Given the description of an element on the screen output the (x, y) to click on. 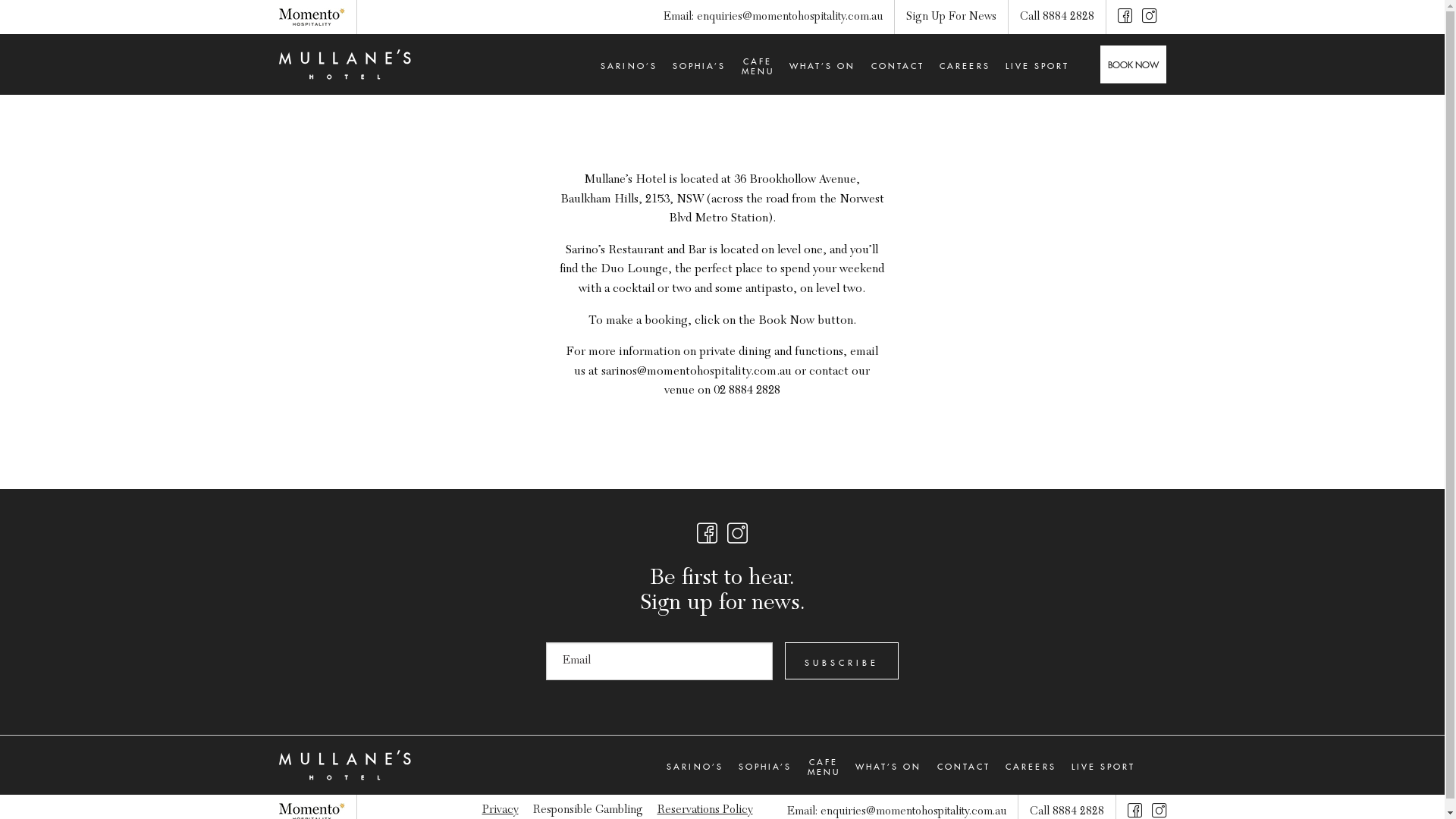
CONTACT Element type: text (898, 64)
CAREERS Element type: text (1030, 764)
Call 8884 2828 Element type: text (1066, 811)
sarinos@momentohospitality.com.au Element type: text (696, 371)
LIVE SPORT Element type: text (1103, 764)
CAREERS Element type: text (964, 64)
CAFE
MENU Element type: text (822, 765)
Email: enquiries@momentohospitality.com.au Element type: text (896, 811)
Sign Up For News Element type: text (950, 16)
Email: enquiries@momentohospitality.com.au Element type: text (771, 16)
Responsible Gambling Element type: text (587, 809)
Reservations Policy Element type: text (704, 809)
LIVE SPORT Element type: text (1037, 64)
Subscribe Element type: text (841, 660)
CONTACT Element type: text (964, 764)
Call 8884 2828 Element type: text (1056, 16)
02 8884 2828 Element type: text (746, 390)
BOOK NOW Element type: text (1132, 63)
Privacy Element type: text (500, 809)
CAFE
MENU Element type: text (757, 64)
